Given the description of an element on the screen output the (x, y) to click on. 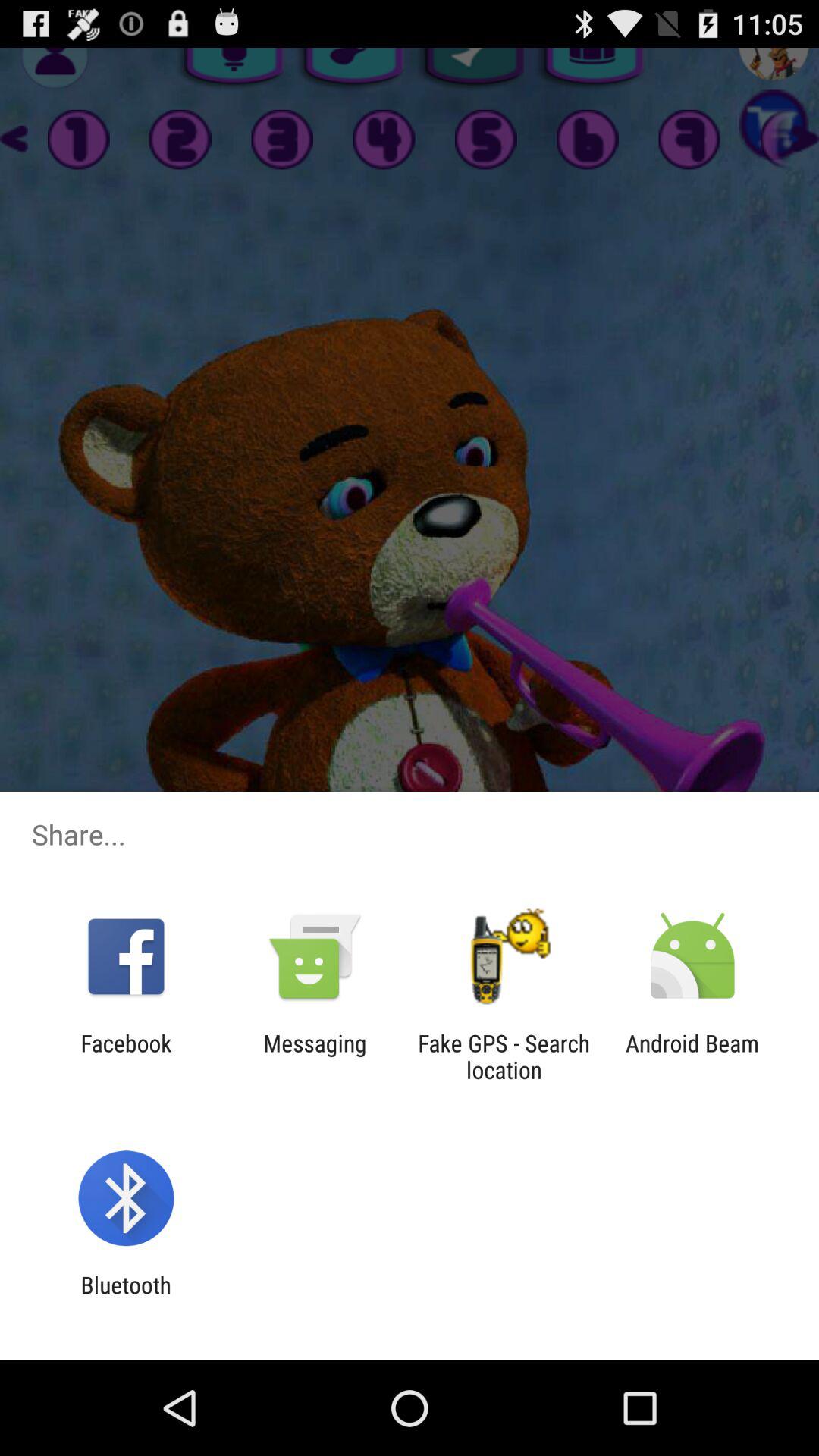
select the android beam icon (692, 1056)
